Given the description of an element on the screen output the (x, y) to click on. 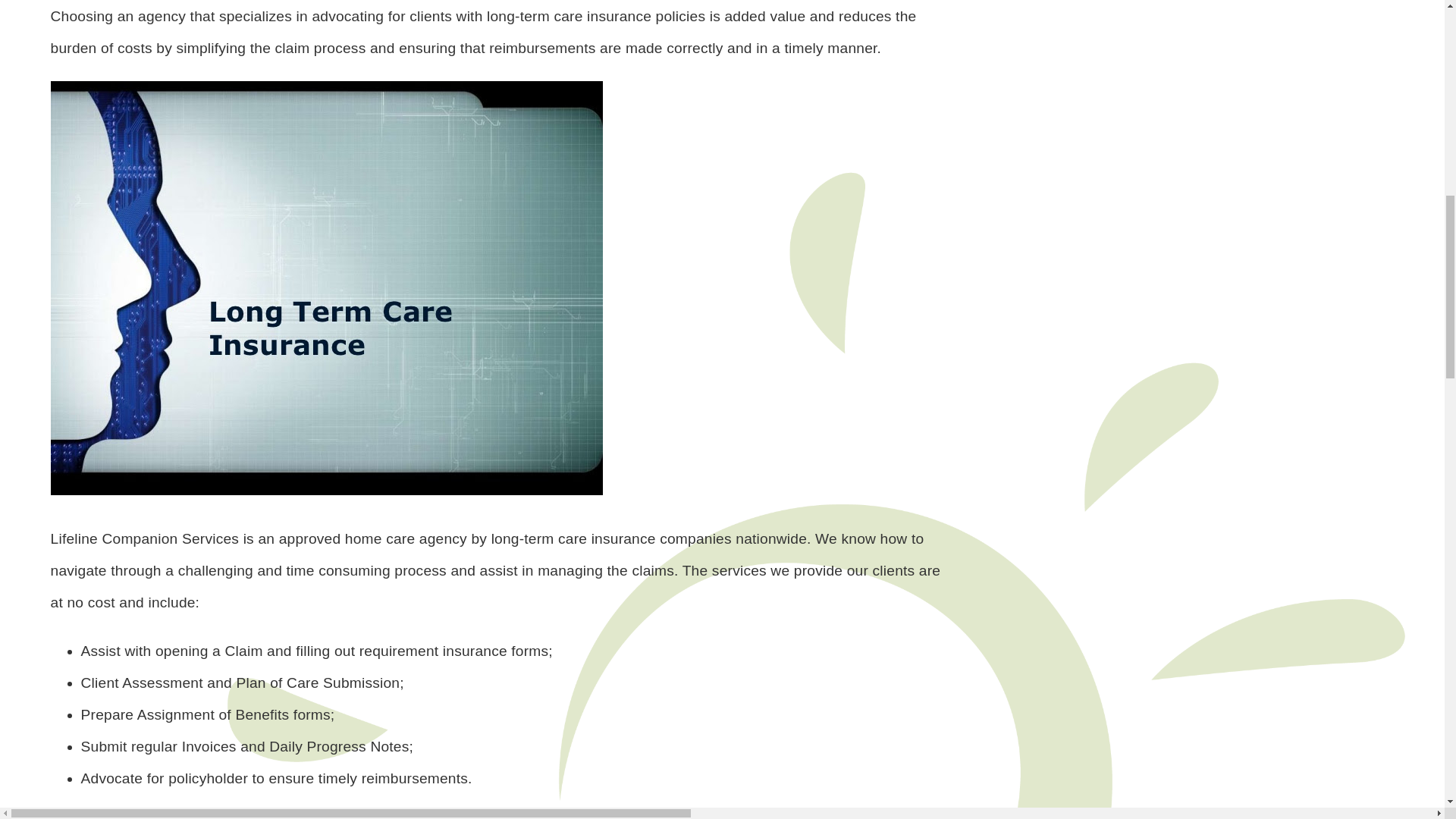
YouTube video player (1190, 113)
